Given the description of an element on the screen output the (x, y) to click on. 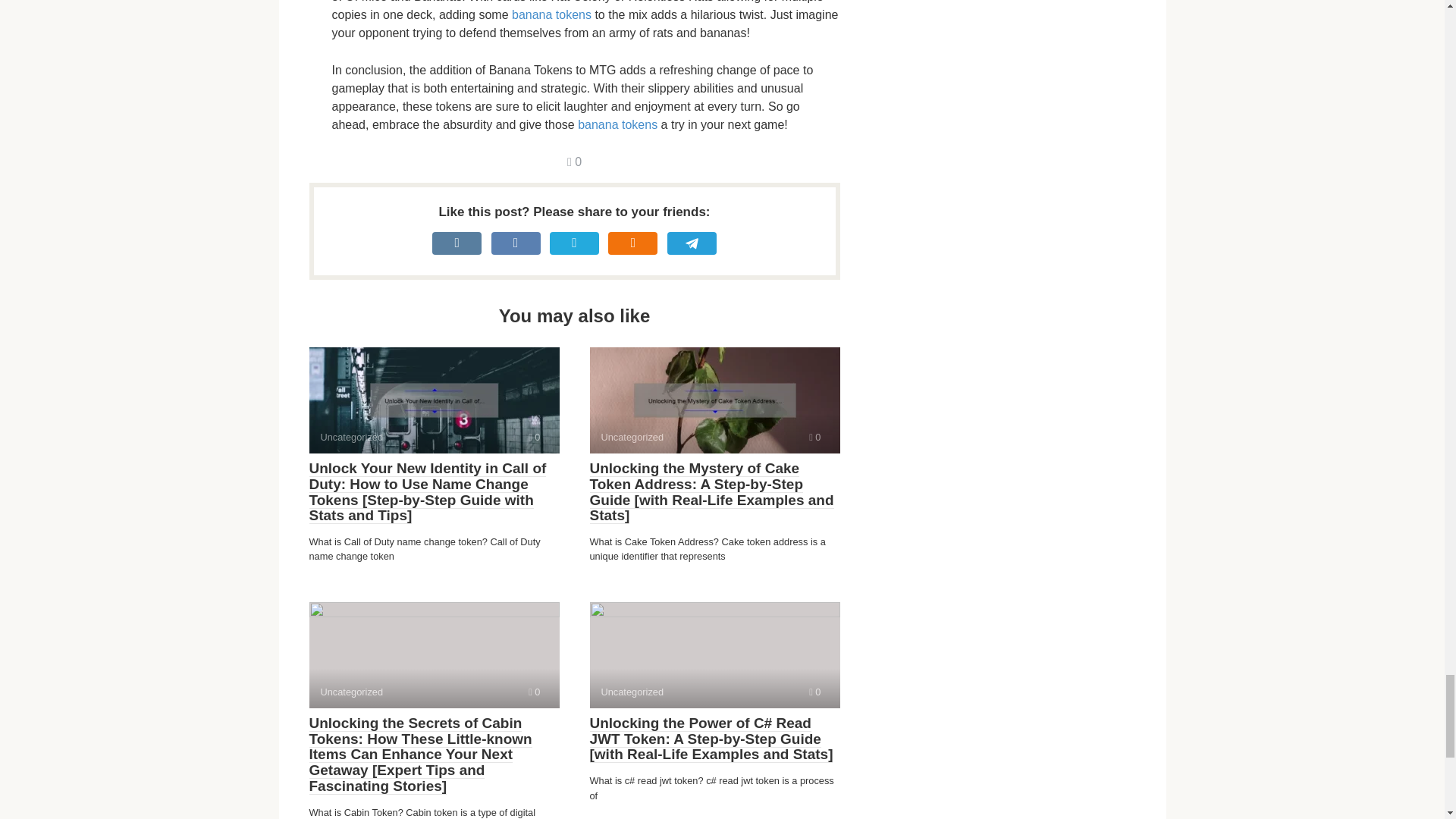
Comments (573, 161)
Comments (534, 437)
Comments (815, 437)
Comments (815, 691)
Comments (534, 691)
